Given the description of an element on the screen output the (x, y) to click on. 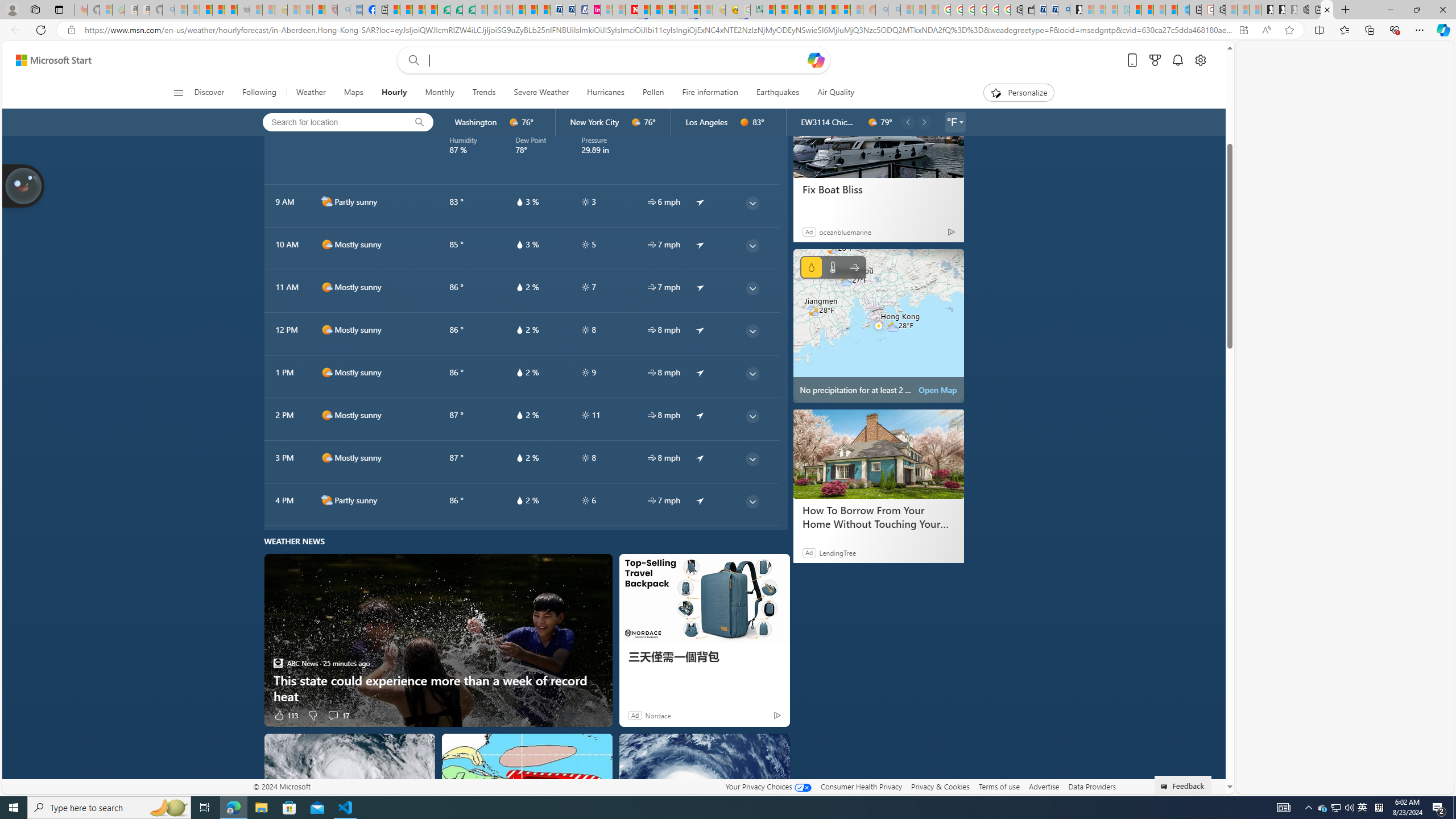
Monthly (440, 92)
Pollen (652, 92)
Severe Weather (540, 92)
Maps (353, 92)
Search for location (330, 122)
113 Like (284, 714)
Open Map (937, 390)
